Given the description of an element on the screen output the (x, y) to click on. 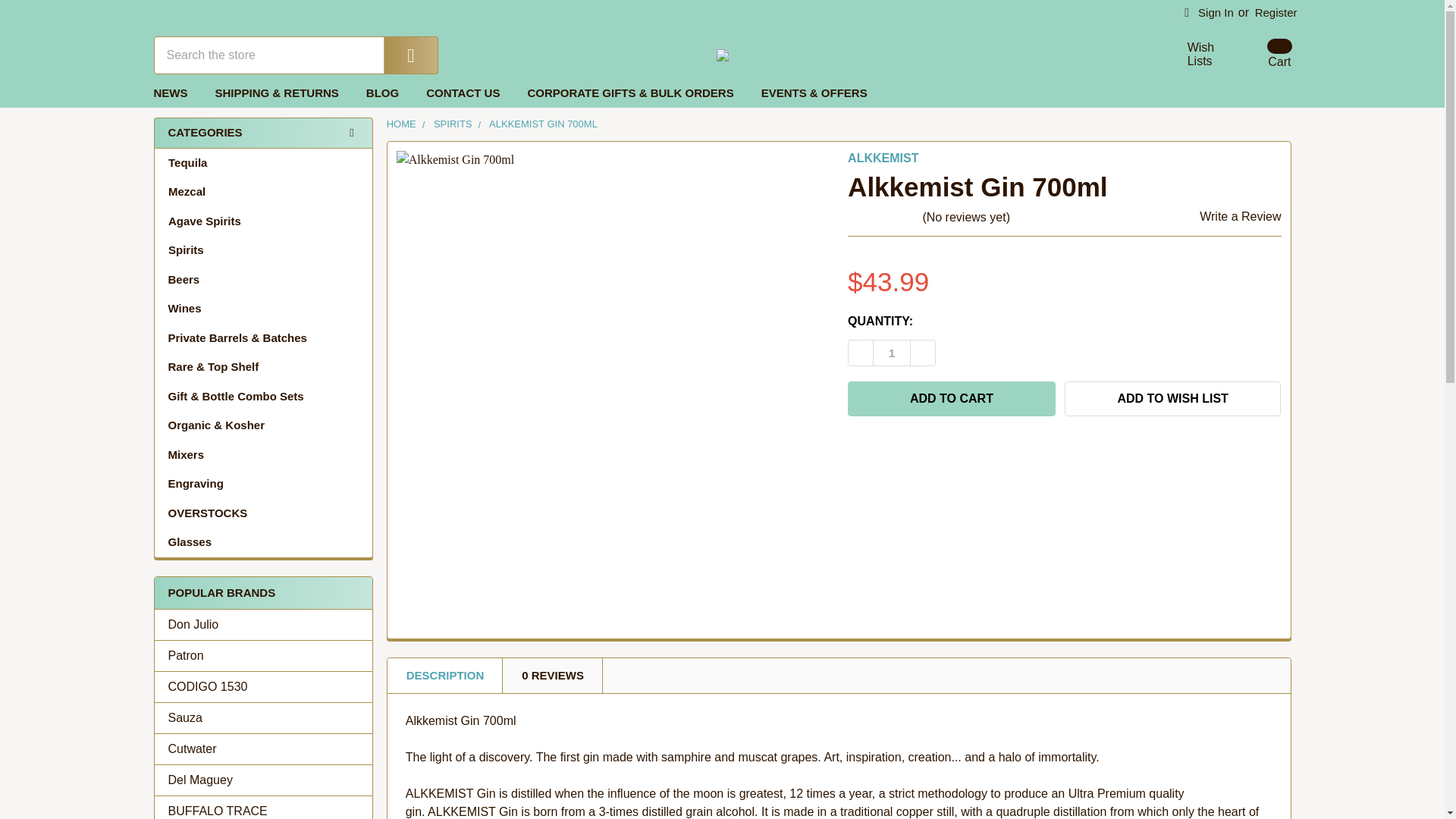
Sauza (1192, 54)
Cart (263, 718)
Register (1260, 54)
Wish Lists (1276, 13)
THE TEQUILA SUPER STORE (1192, 54)
Sign In (722, 54)
Del Maguey (1208, 13)
Cart (263, 780)
Add to Cart (1260, 54)
Search (951, 398)
Cutwater (400, 55)
1 (263, 749)
BUFFALO TRACE (891, 352)
Patron (263, 810)
